Given the description of an element on the screen output the (x, y) to click on. 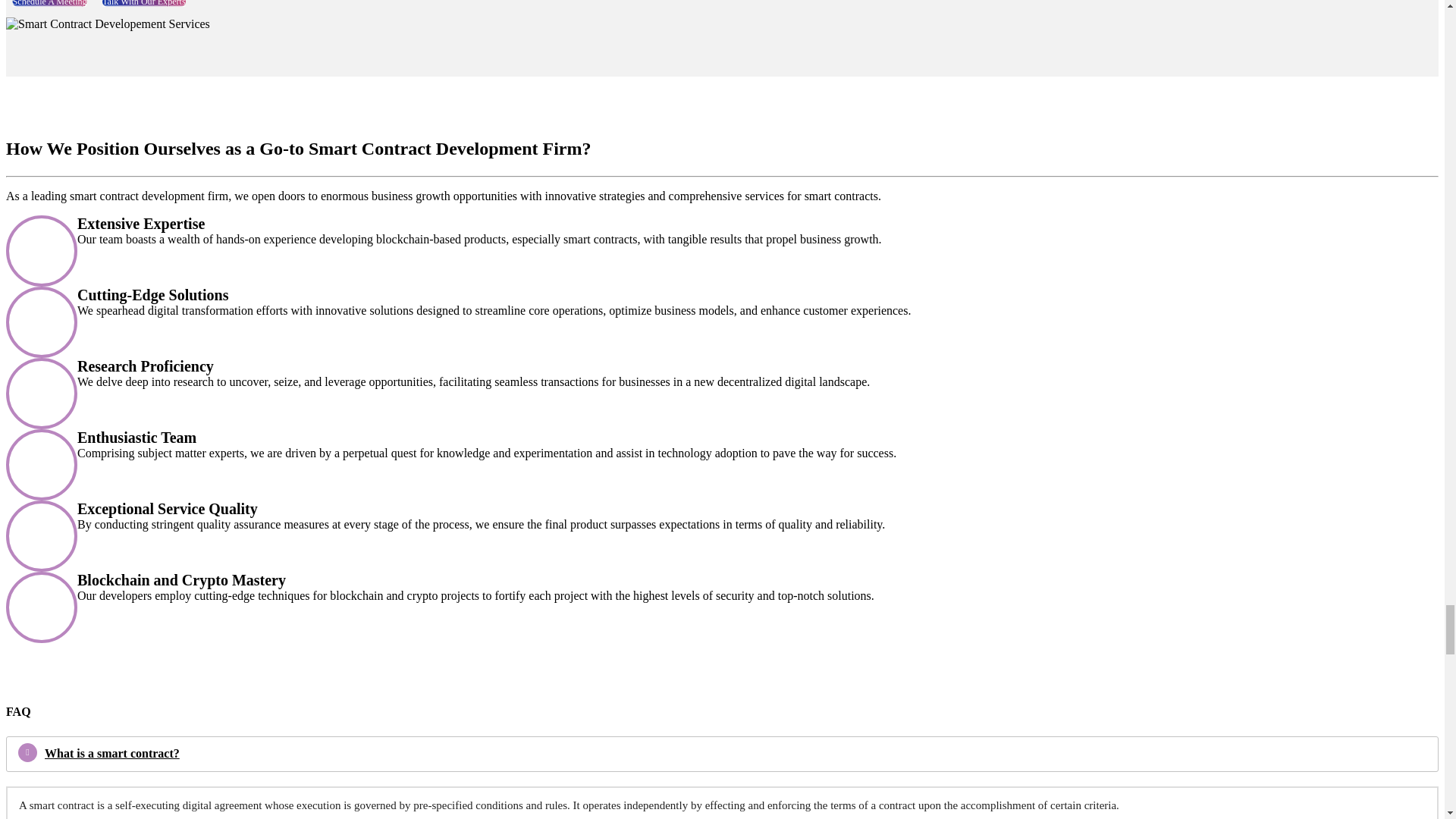
Smart Contract Developement Services (107, 24)
Schedule A Meeting (46, 2)
Talk With Our Experts (139, 2)
